Given the description of an element on the screen output the (x, y) to click on. 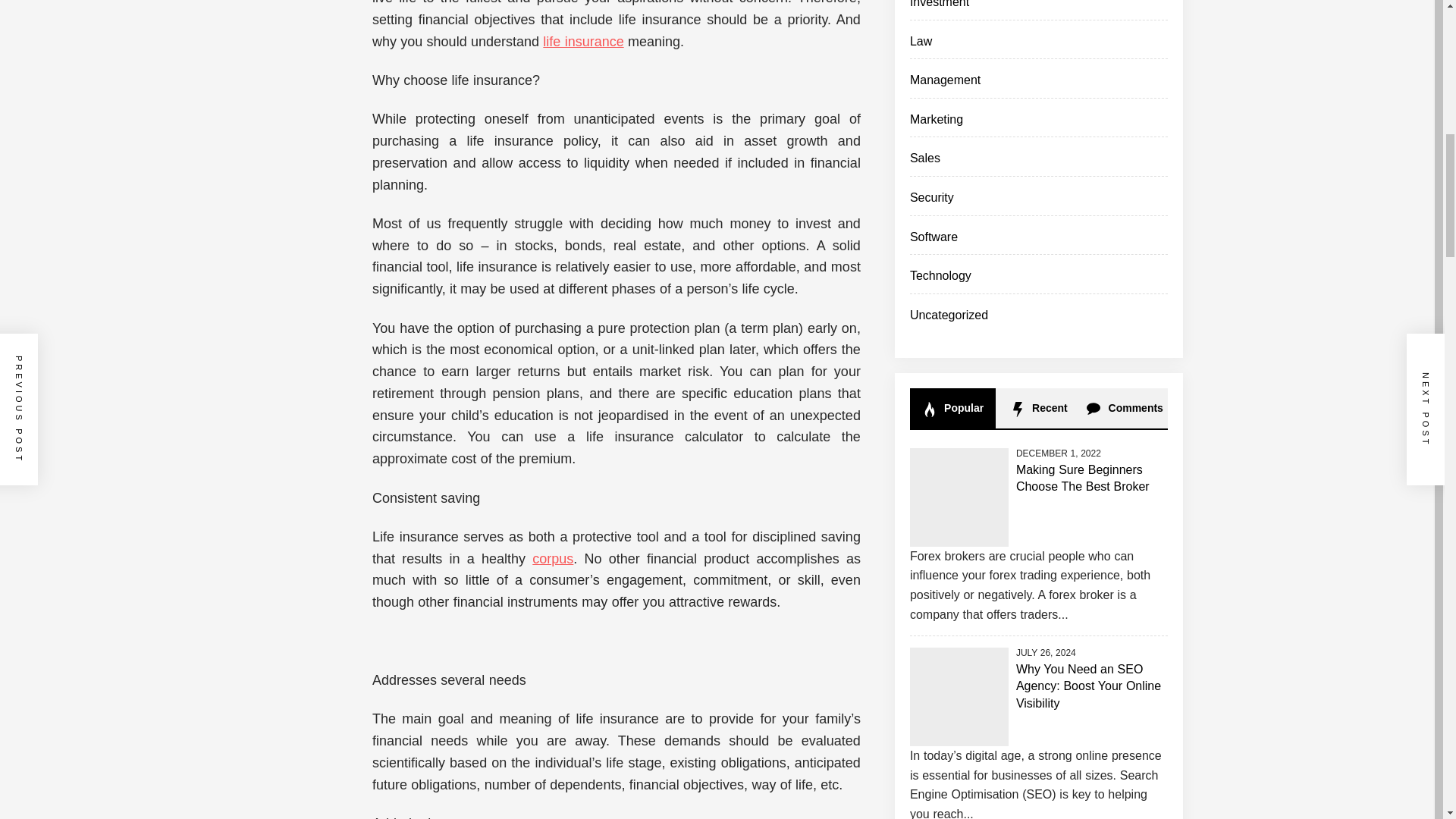
corpus (552, 558)
Law (920, 41)
Management (944, 79)
Investment (939, 4)
life insurance (583, 41)
